Given the description of an element on the screen output the (x, y) to click on. 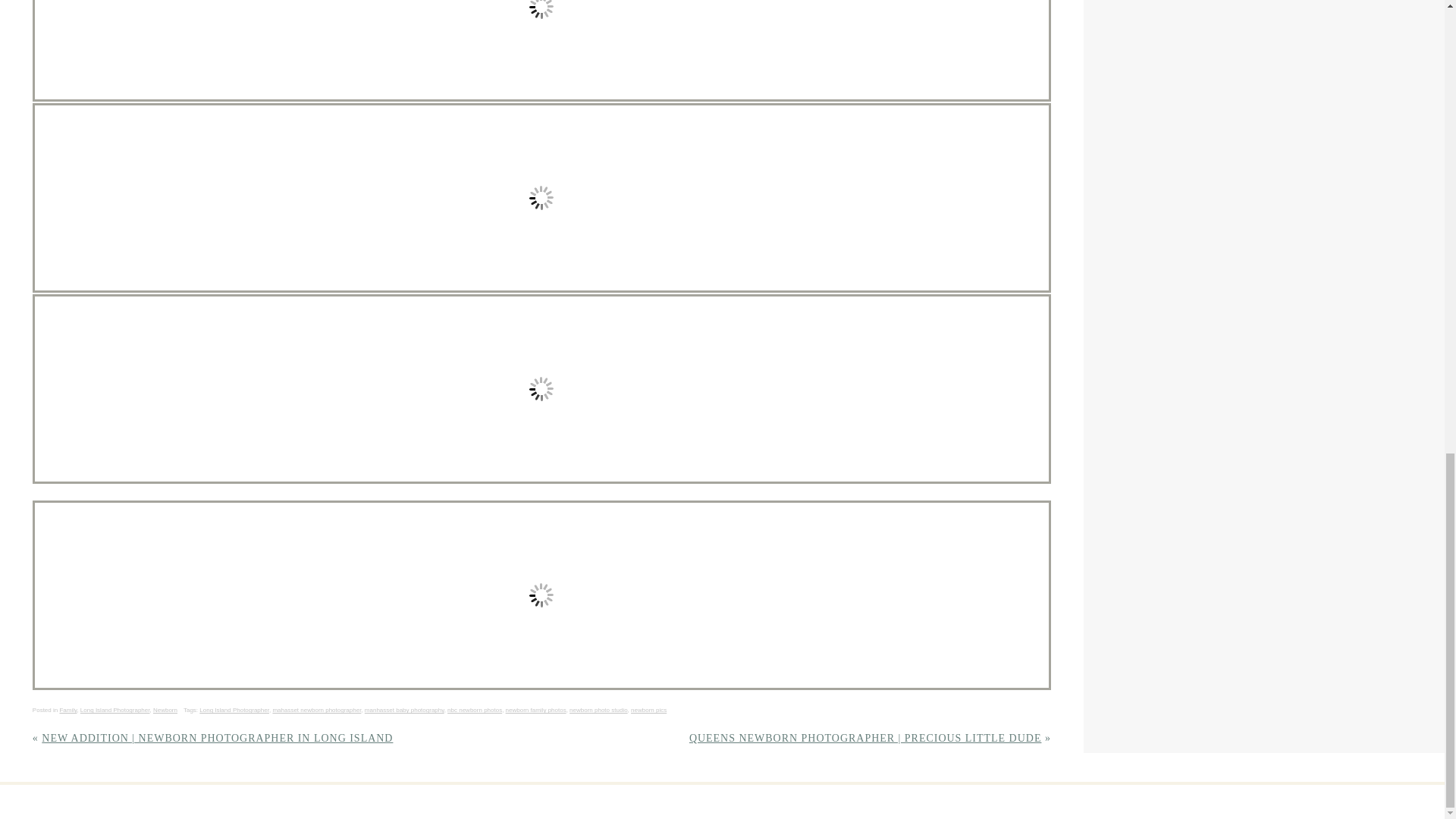
manhasset baby photography (404, 709)
Long Island Photographer (234, 709)
newborn family photos (535, 709)
newborn photo studio (598, 709)
nbc newborn photos (474, 709)
newborn pics (648, 709)
Newborn (164, 709)
Family (68, 709)
mahasset newborn photographer (316, 709)
Long Island Photographer (114, 709)
